Given the description of an element on the screen output the (x, y) to click on. 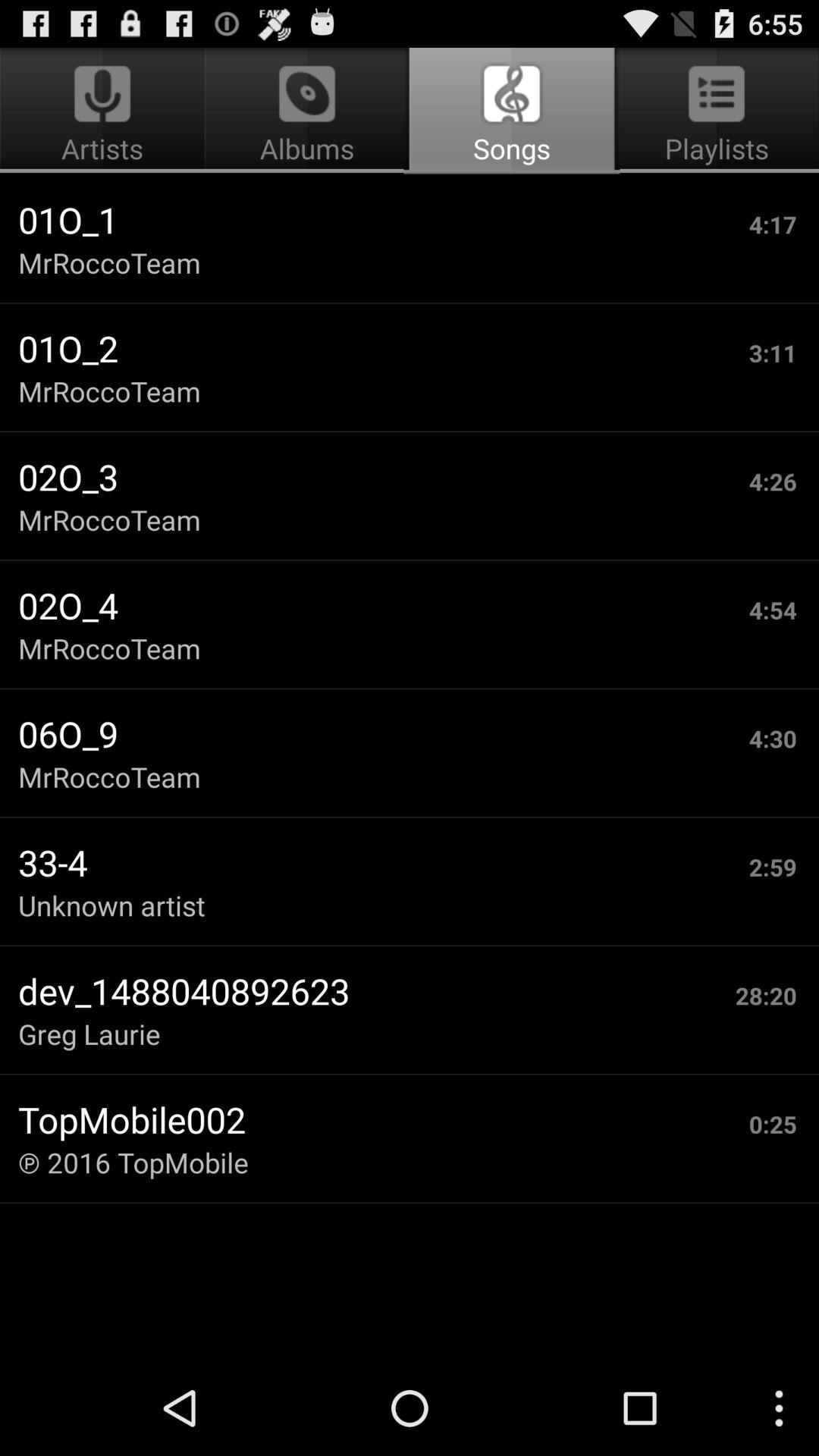
click app next to songs app (105, 111)
